Given the description of an element on the screen output the (x, y) to click on. 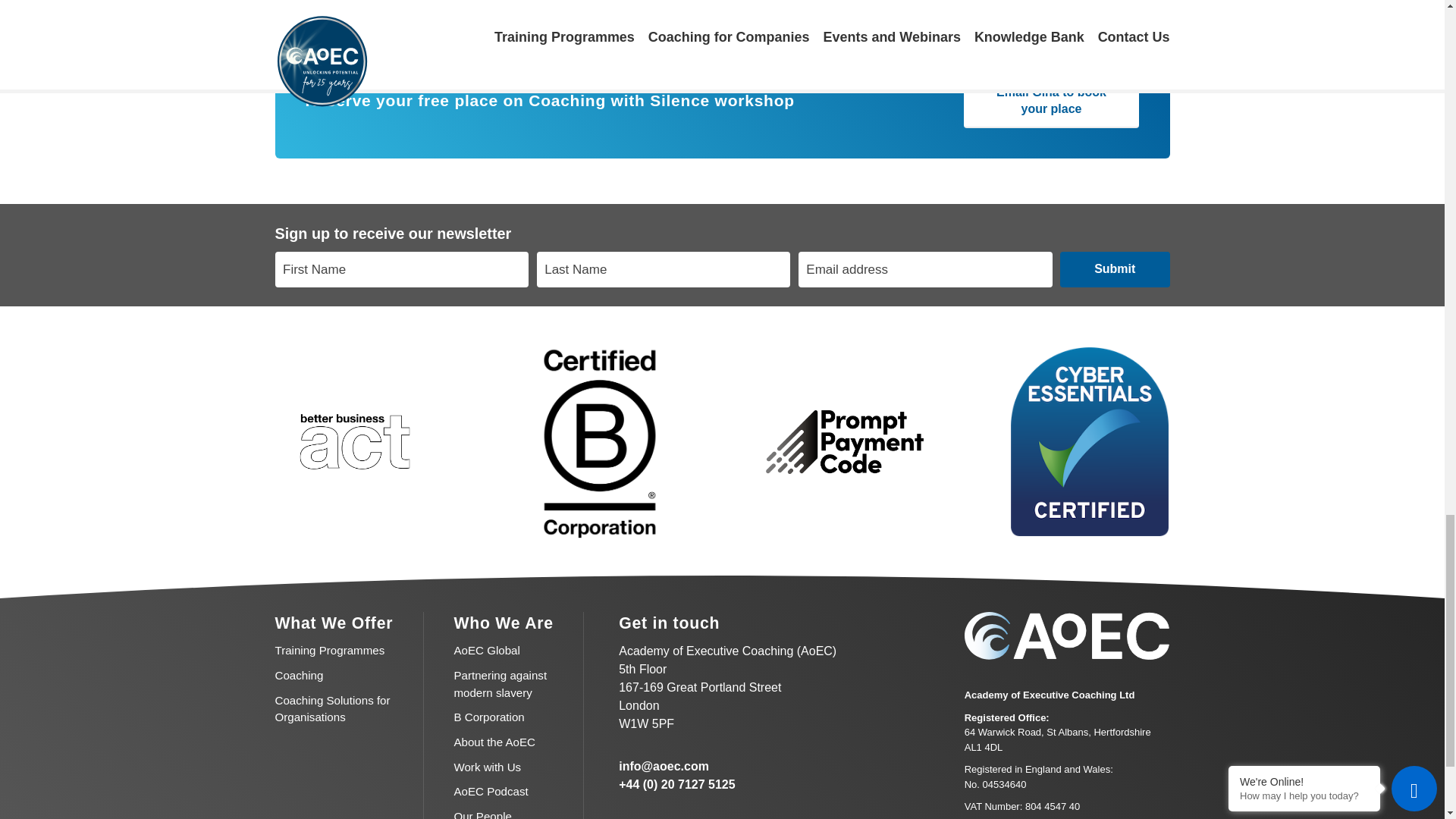
Our People (481, 814)
About the AoEC (493, 741)
Submit (1114, 269)
Partnering against modern slavery (499, 684)
AoEC Podcast (489, 790)
B Corporation (488, 716)
Email Gina to book your place (1050, 100)
AoEC Global (485, 649)
Training Programmes (329, 649)
Coaching Solutions for Organisations (332, 708)
Coaching (299, 675)
Work with Us (486, 766)
